Given the description of an element on the screen output the (x, y) to click on. 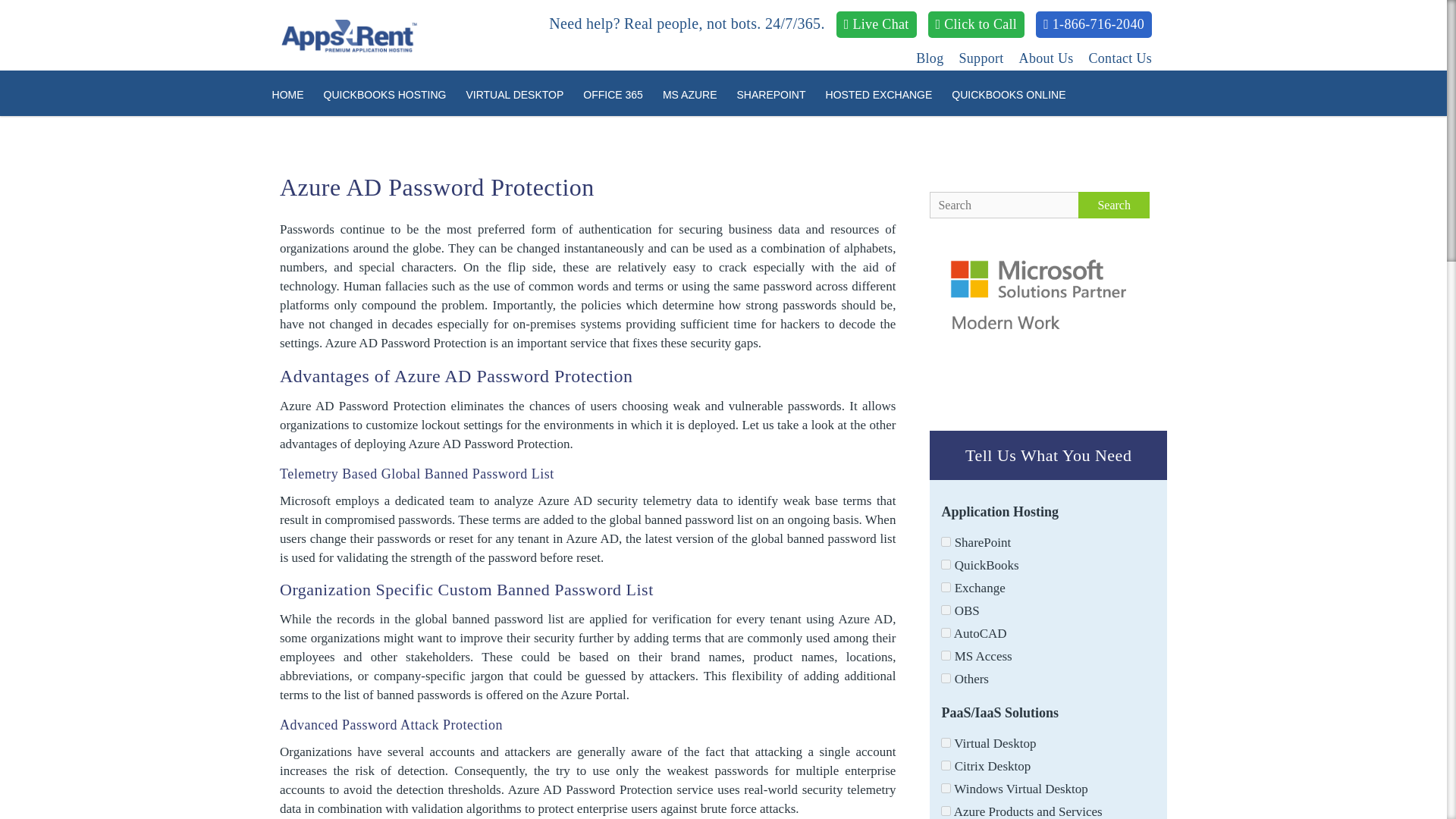
About Us (1046, 58)
SharePoint (945, 542)
Others (945, 678)
QUICKBOOKS ONLINE (1008, 94)
Windows Virtual Desktop (945, 787)
QUICKBOOKS HOSTING (385, 94)
Azure AD Password Protection (436, 186)
Live Chat (876, 24)
SHAREPOINT (770, 94)
Click to Call (976, 24)
